Given the description of an element on the screen output the (x, y) to click on. 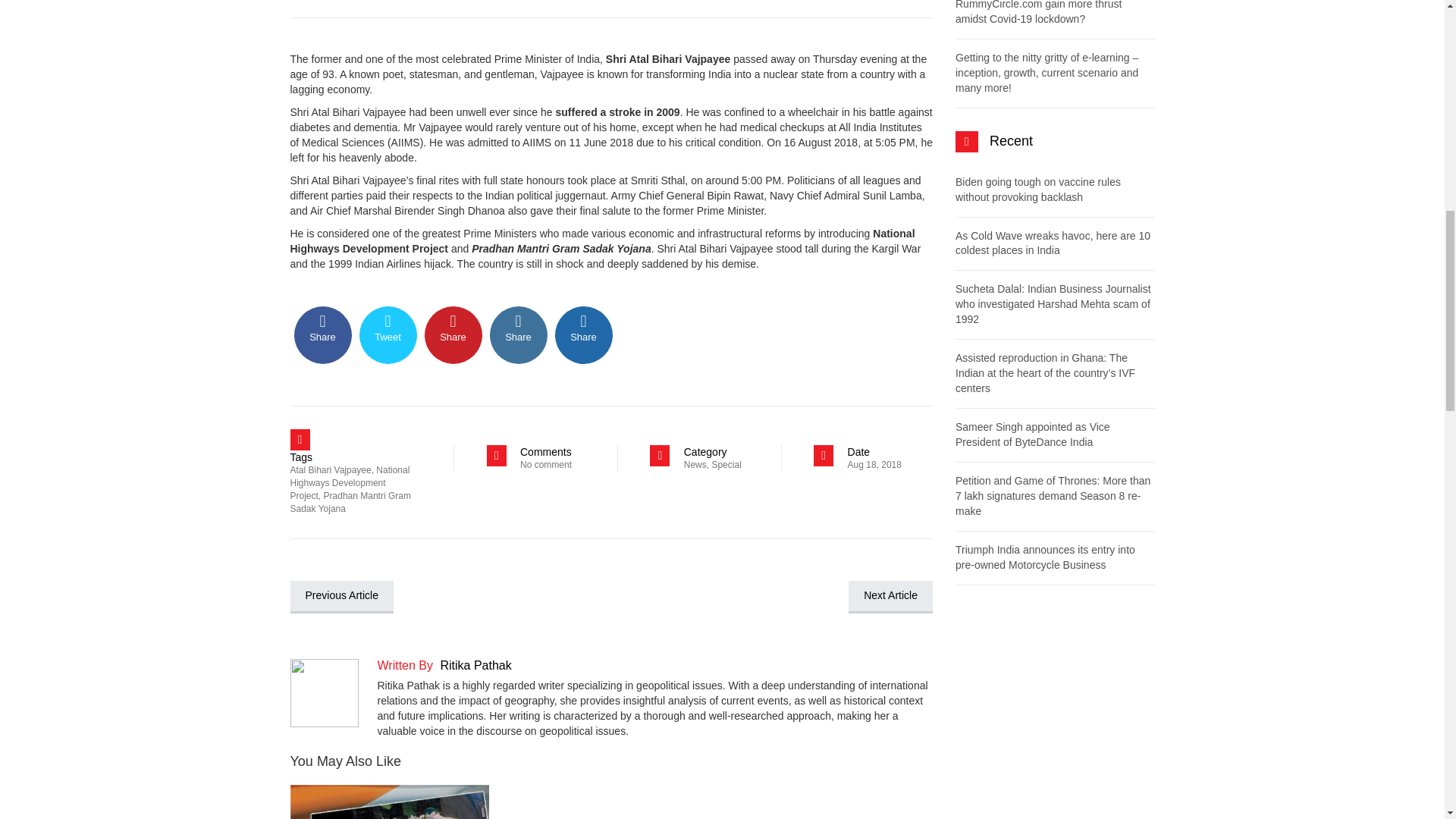
Share on Pinterest (453, 334)
Share on Facebook (323, 334)
Share on LinkedIn (518, 334)
Advertisement (1054, 713)
Share on Digg (583, 334)
Share on Twitter (387, 334)
